Given the description of an element on the screen output the (x, y) to click on. 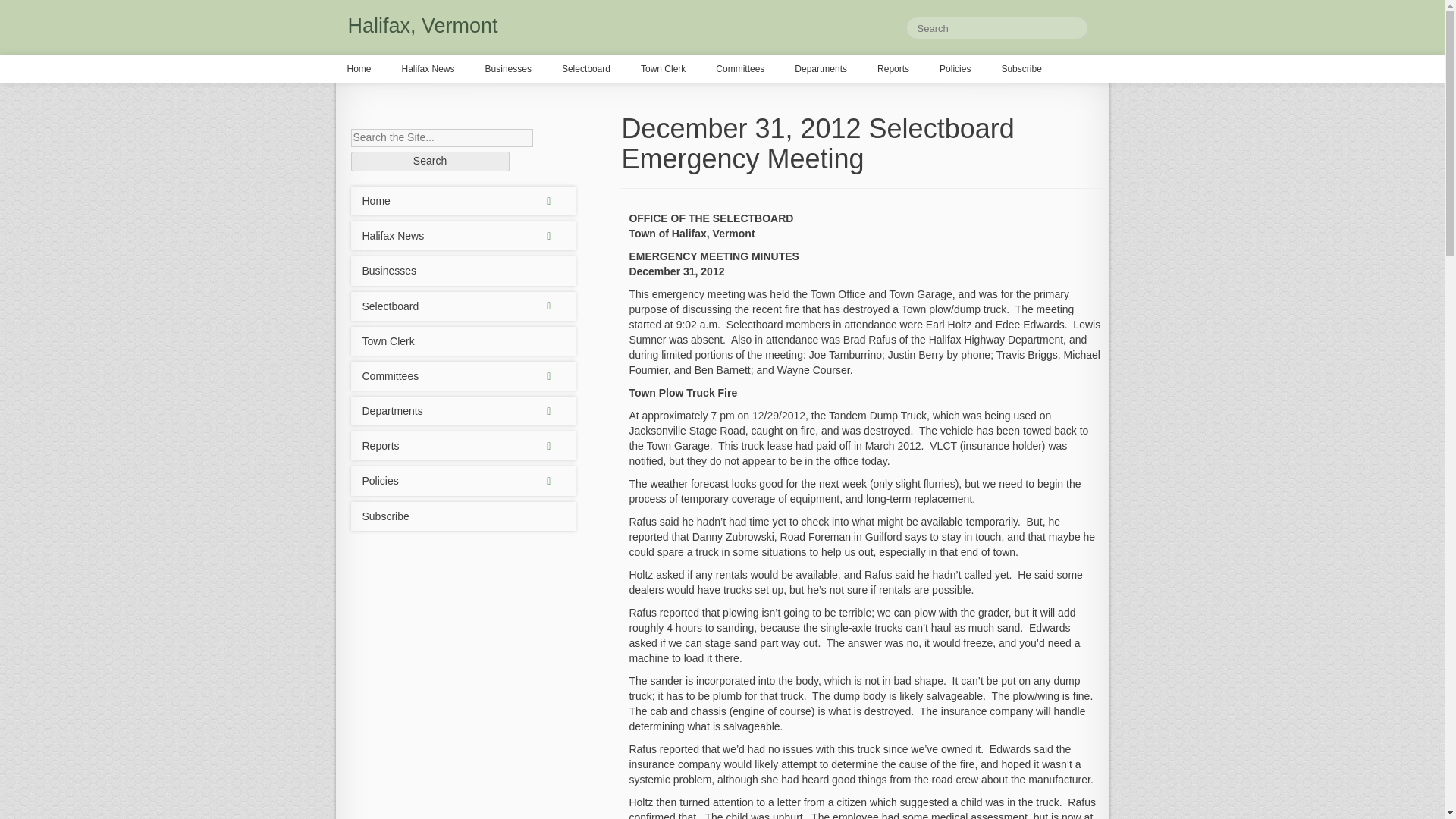
Selectboard (462, 306)
Halifax News (462, 235)
Halifax, Vermont (422, 25)
Businesses (462, 270)
Home (462, 200)
Committees (462, 375)
Halifax, Vermont (422, 25)
Departments (462, 410)
Search (429, 161)
Town Clerk (462, 340)
Search (429, 161)
